Given the description of an element on the screen output the (x, y) to click on. 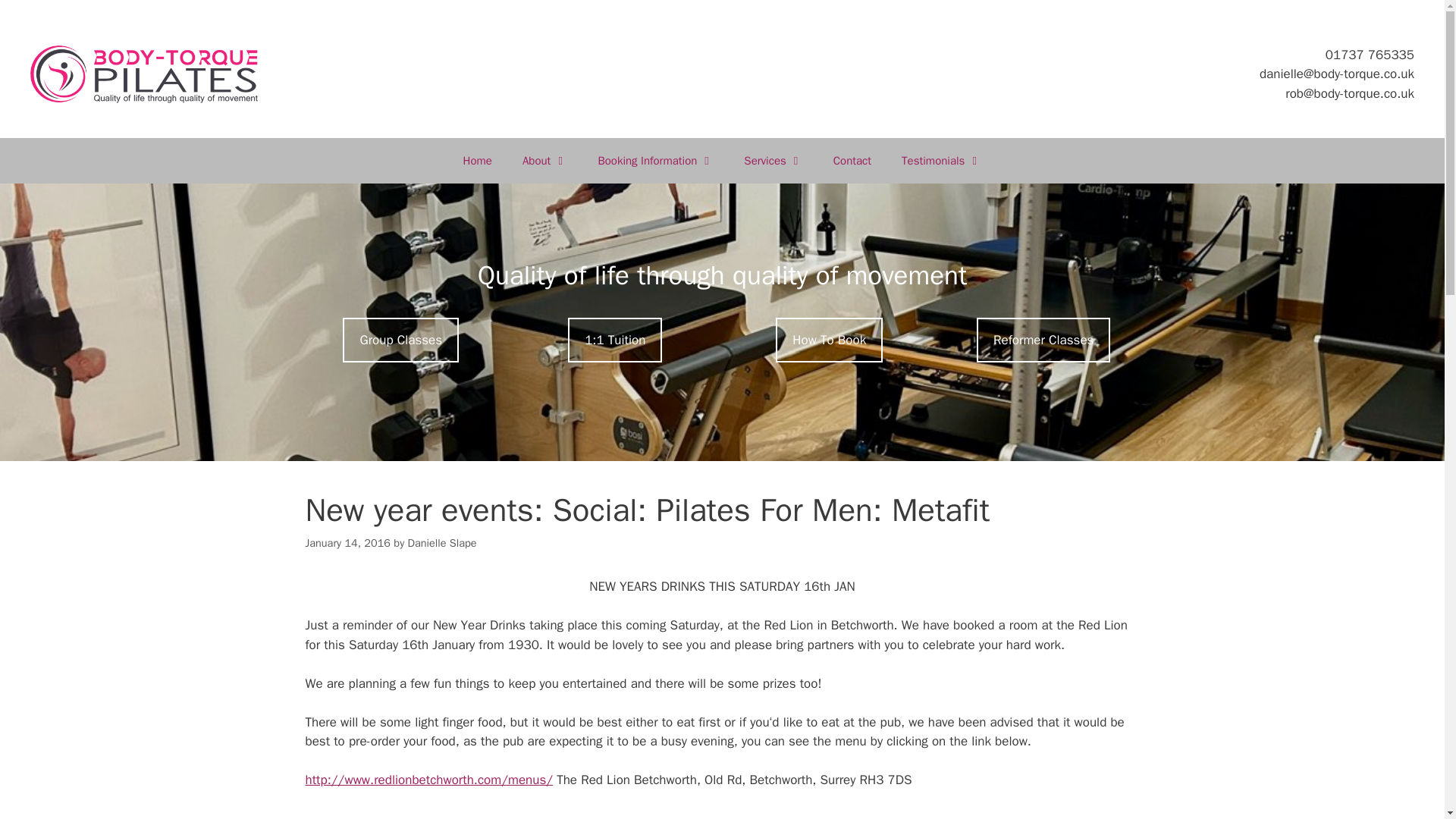
1:1 Tuition (614, 339)
Home (477, 160)
Contact (852, 160)
Booking Information (655, 160)
Danielle Slape (442, 542)
How To Book (829, 339)
Testimonials (940, 160)
Group Classes (400, 339)
Services (772, 160)
About (544, 160)
Reformer Classes (1042, 339)
View all posts by Danielle Slape (442, 542)
